Given the description of an element on the screen output the (x, y) to click on. 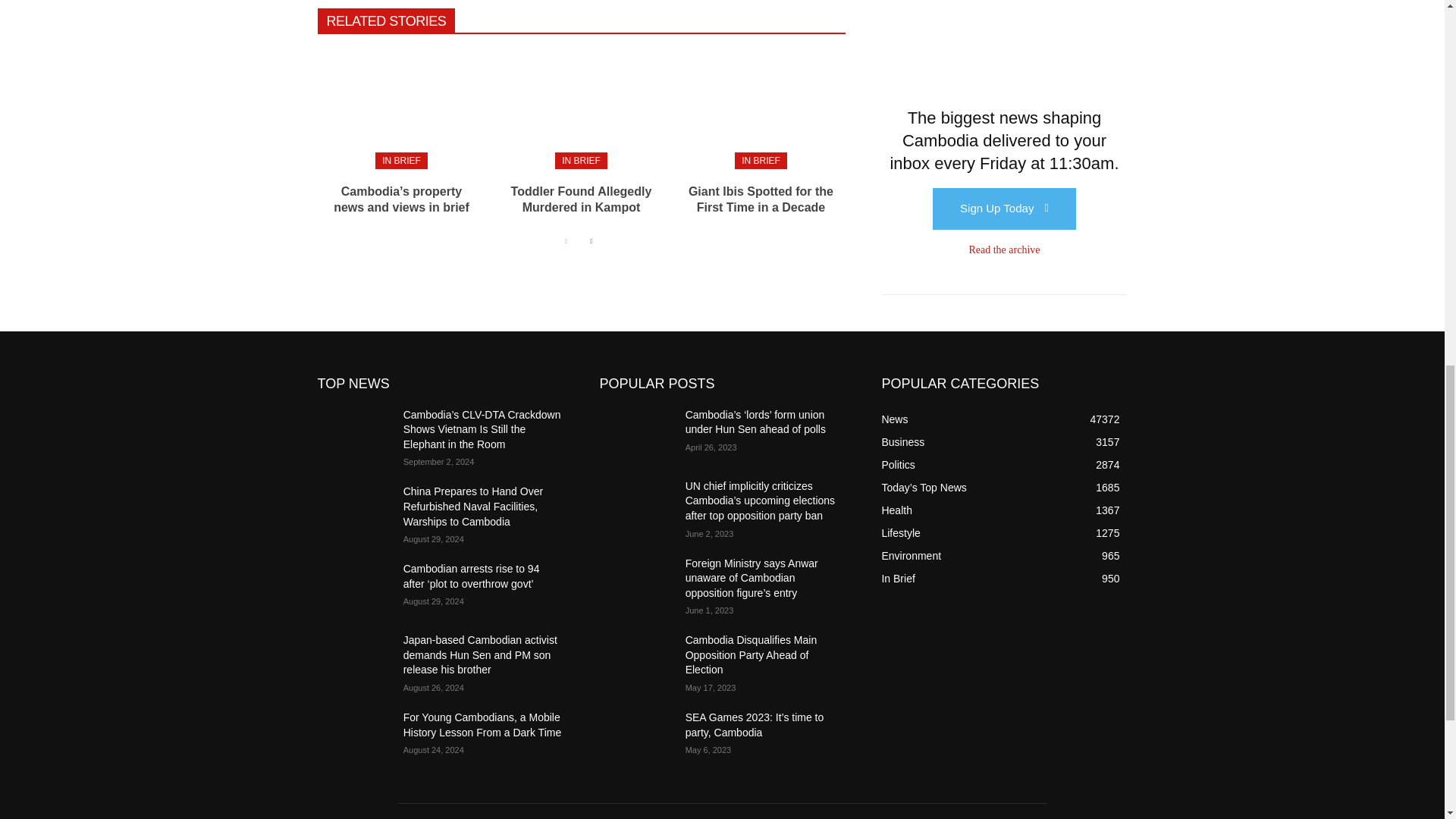
IN BRIEF (580, 160)
Toddler Found Allegedly Murdered in Kampot (580, 107)
Toddler Found Allegedly Murdered in Kampot (581, 199)
Toddler Found Allegedly Murdered in Kampot (581, 199)
IN BRIEF (401, 160)
Giant Ibis Spotted for the First Time in a Decade (760, 199)
Giant Ibis Spotted for the First Time in a Decade (760, 107)
